Given the description of an element on the screen output the (x, y) to click on. 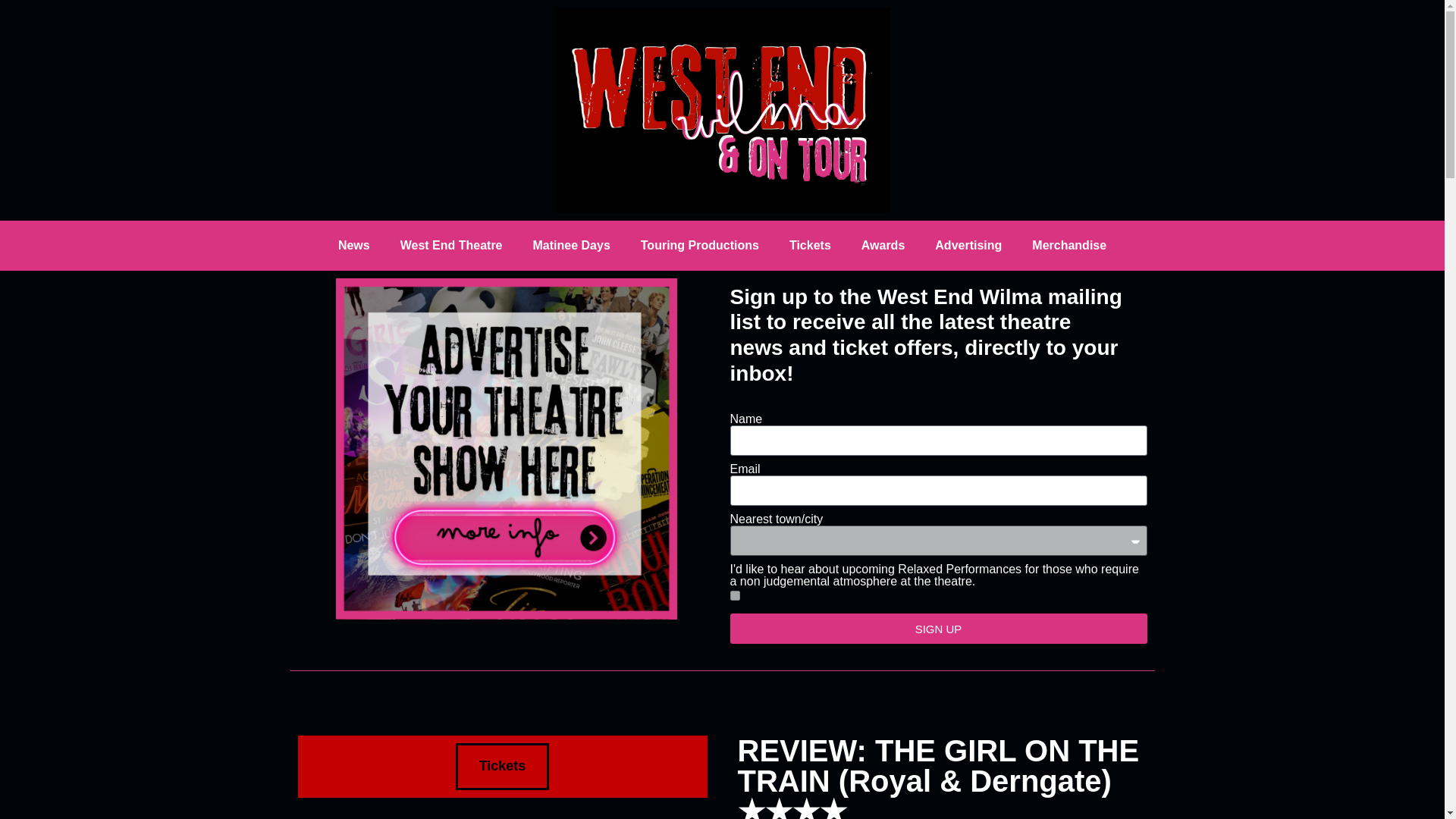
News (354, 245)
Awards (882, 245)
Matinee Days (572, 245)
SIGN UP (938, 628)
Advertising (968, 245)
West End Theatre (451, 245)
Tickets (809, 245)
Tickets (502, 766)
Merchandise (1068, 245)
Touring Productions (700, 245)
